Given the description of an element on the screen output the (x, y) to click on. 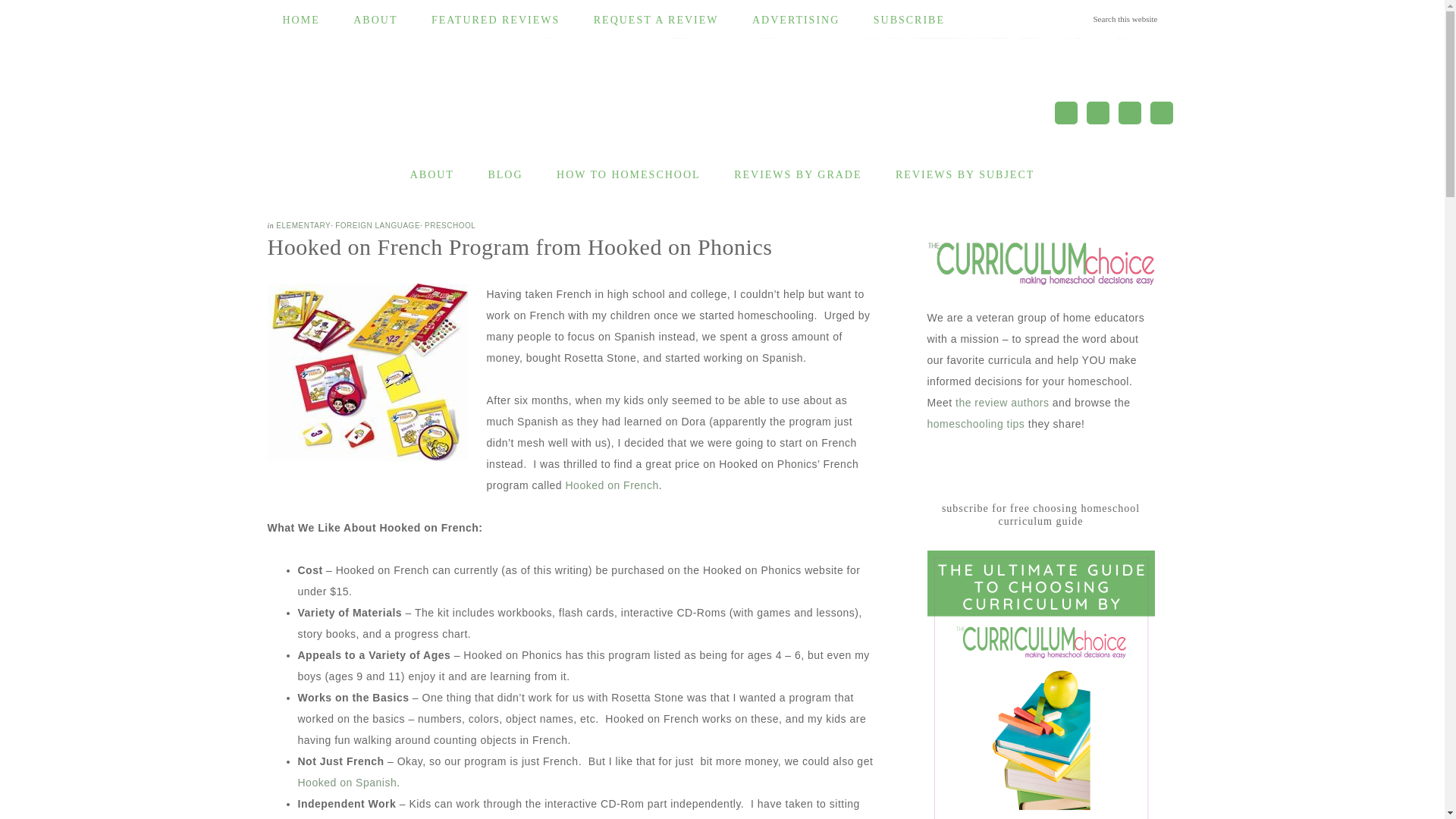
THE CURRICULUM CHOICE (456, 104)
REVIEWS BY SUBJECT (964, 174)
ABOUT (374, 20)
BLOG (504, 174)
HOME (300, 20)
HOW TO HOMESCHOOL (628, 174)
SUBSCRIBE (909, 20)
FEATURED REVIEWS (495, 20)
ABOUT (431, 174)
REQUEST A REVIEW (655, 20)
ADVERTISING (795, 20)
REVIEWS BY GRADE (797, 174)
